Given the description of an element on the screen output the (x, y) to click on. 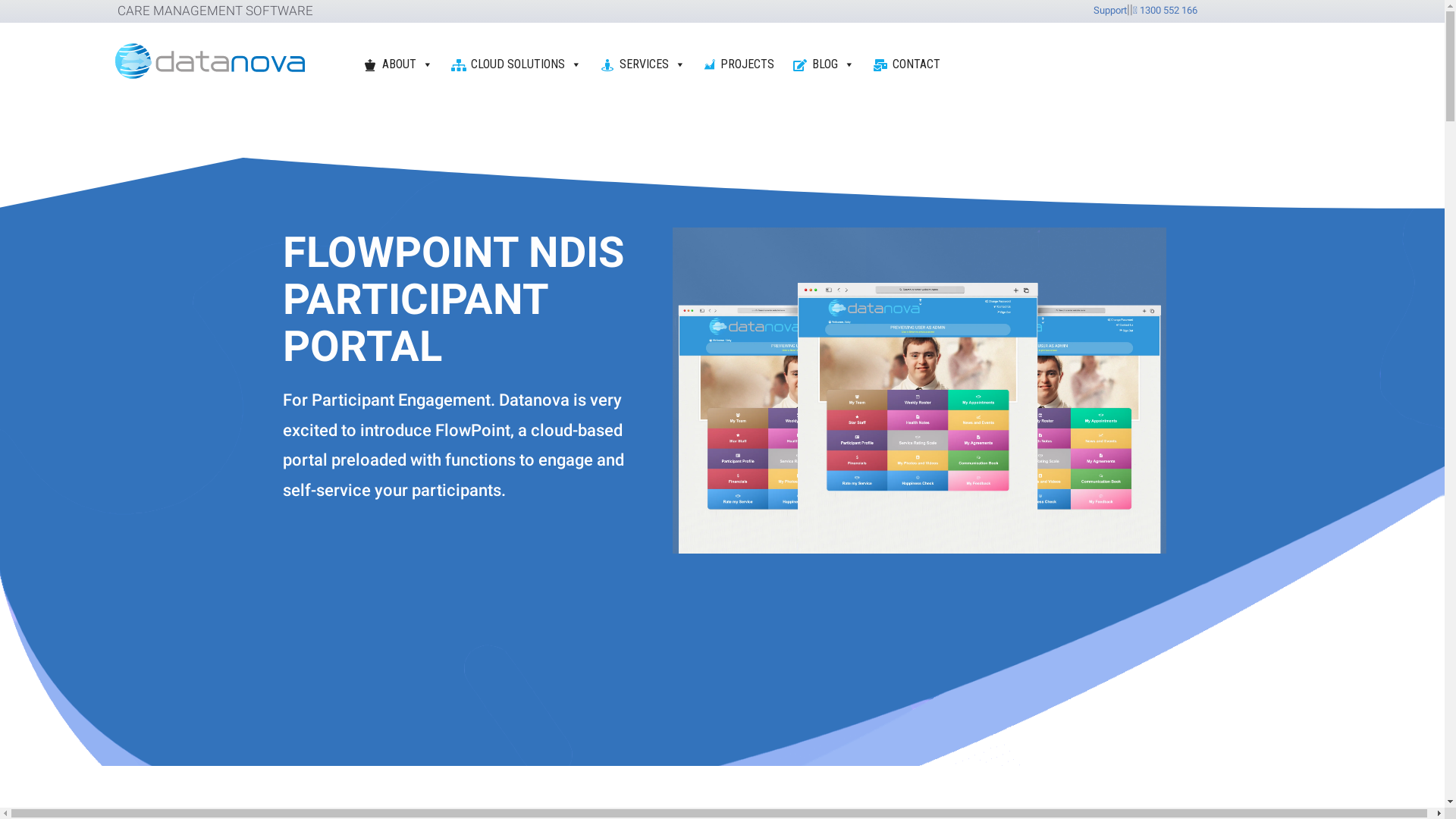
ABOUT Element type: text (398, 64)
PROJECTS Element type: text (740, 64)
Support Element type: text (1109, 9)
SERVICES Element type: text (644, 64)
CLOUD SOLUTIONS Element type: text (517, 64)
BLOG Element type: text (824, 64)
CONTACT Element type: text (907, 64)
